Given the description of an element on the screen output the (x, y) to click on. 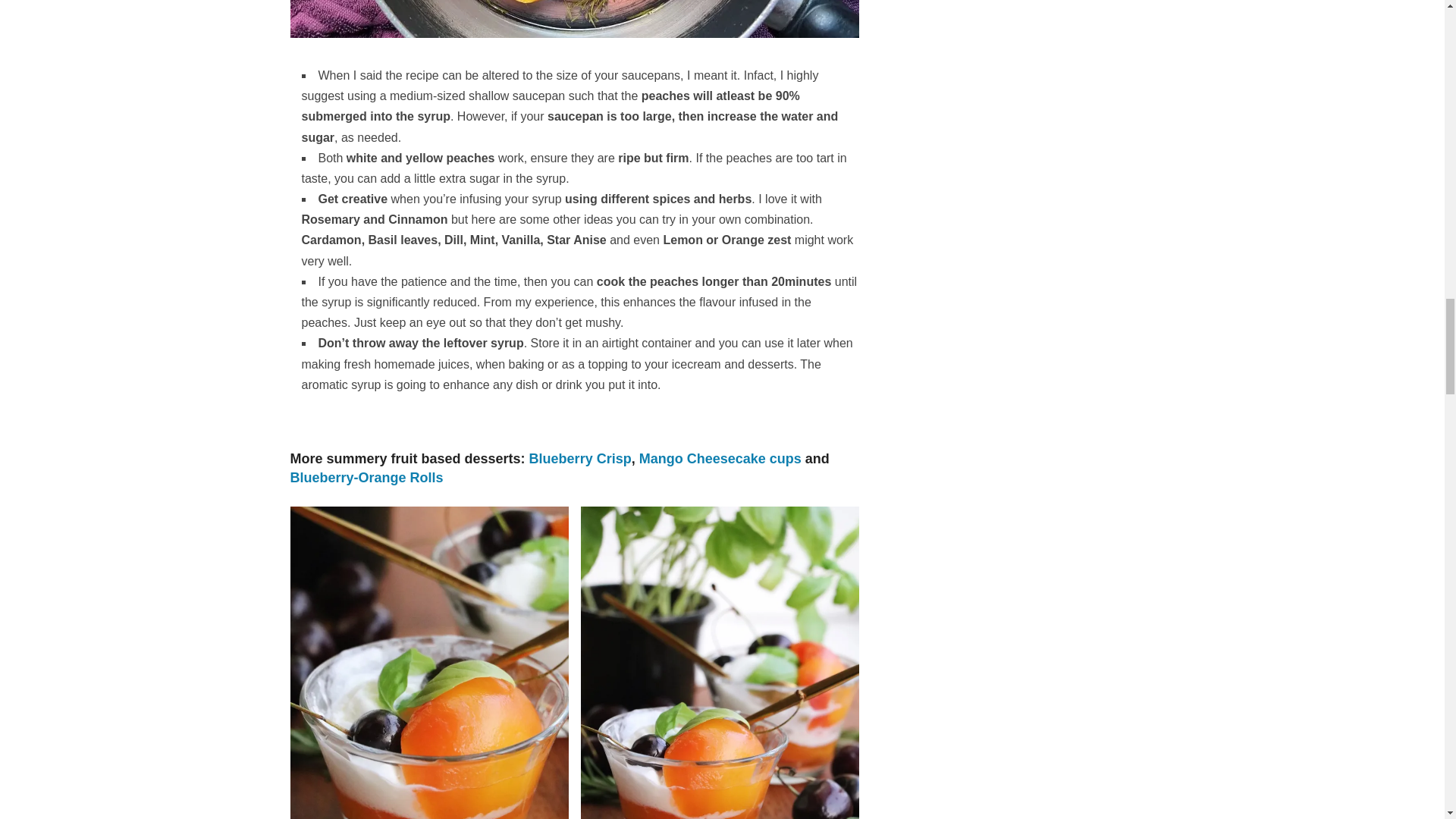
Mango Cheesecake cups (720, 458)
Blueberry-Orange Rolls (365, 477)
Blueberry Crisp (580, 458)
